Given the description of an element on the screen output the (x, y) to click on. 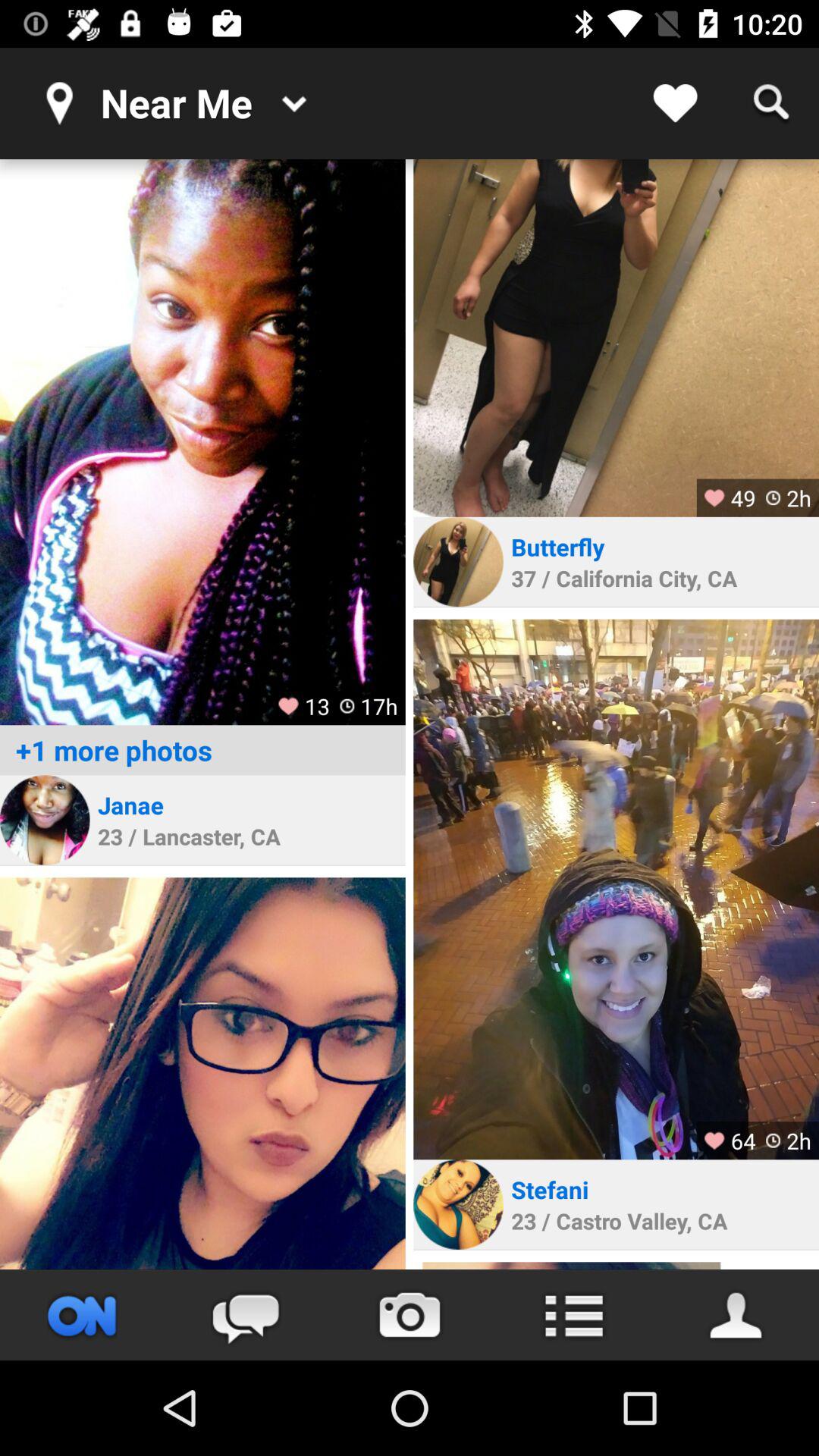
will switch to the main profile page of the user (737, 1315)
